Given the description of an element on the screen output the (x, y) to click on. 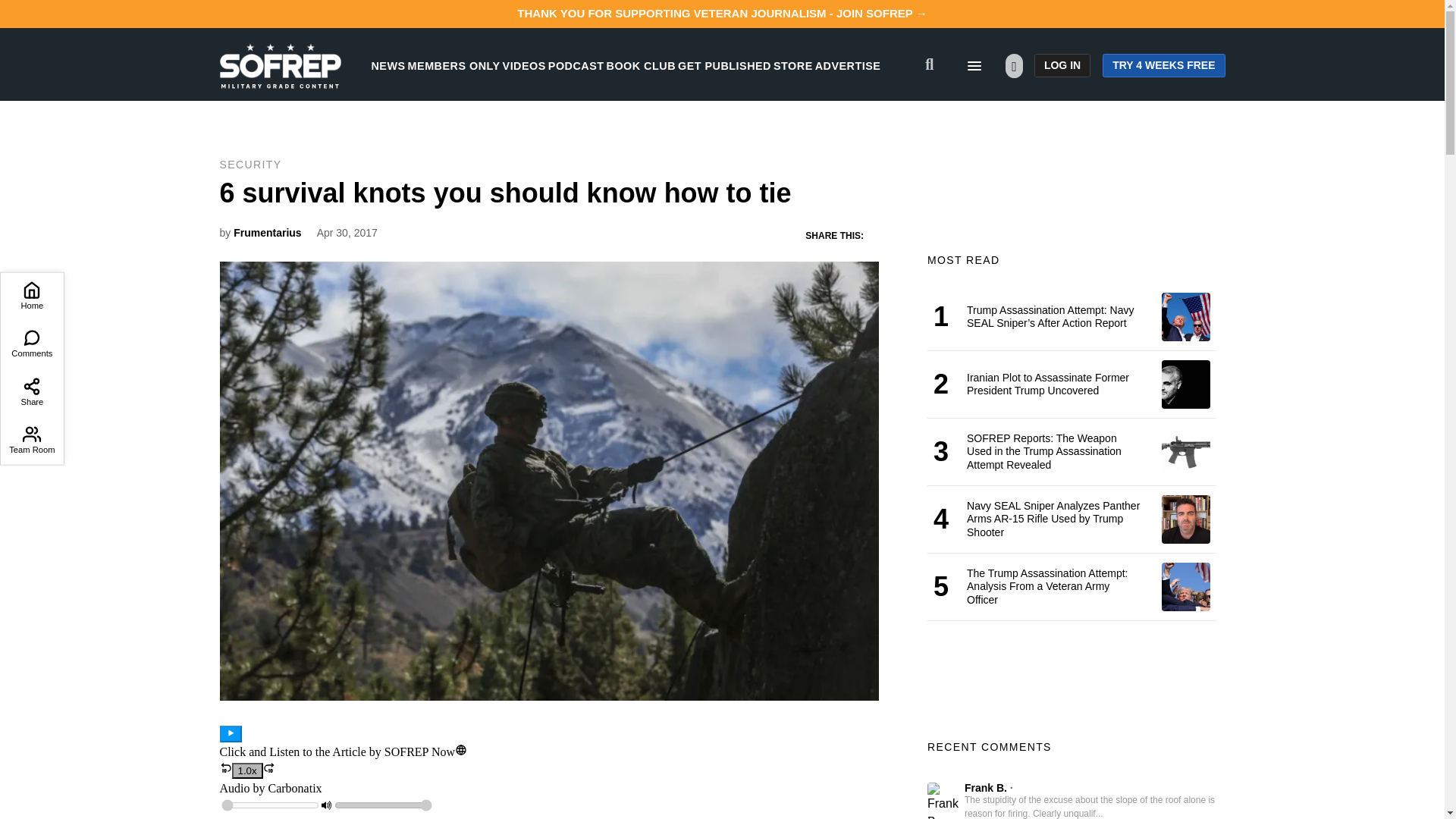
PODCAST (576, 65)
NEWS (388, 65)
VIDEOS (524, 65)
STORE (792, 65)
MEMBERS ONLY (453, 65)
BOOK CLUB (641, 65)
TRY 4 WEEKS FREE (1163, 65)
GET PUBLISHED (724, 65)
LOG IN (1061, 65)
ADVERTISE (847, 65)
